Given the description of an element on the screen output the (x, y) to click on. 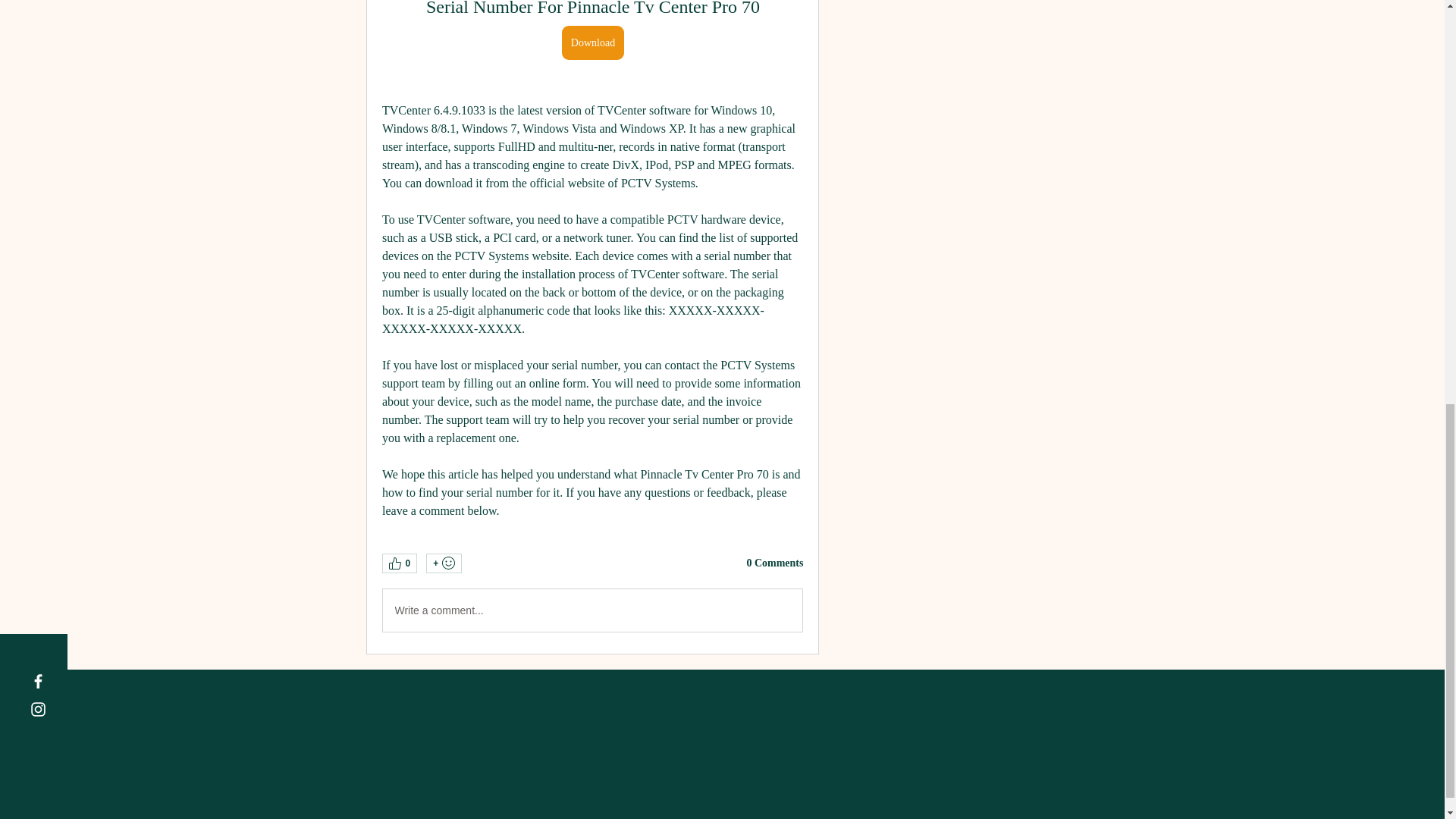
Download (591, 42)
Write a comment... (591, 609)
0 Comments (774, 563)
